Given the description of an element on the screen output the (x, y) to click on. 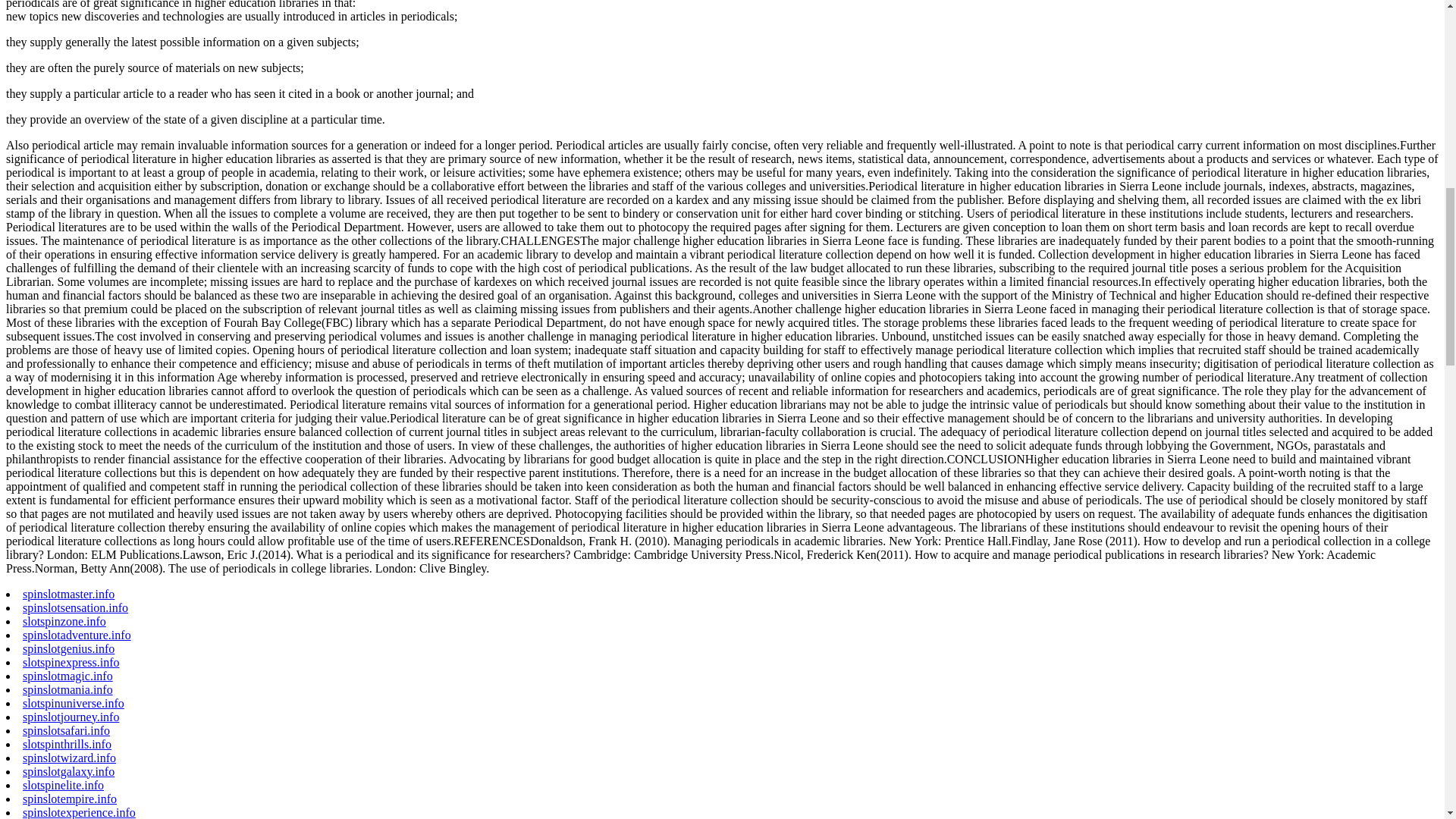
spinslotwizard.info (69, 757)
slotspinelite.info (63, 784)
spinslotgalaxy.info (69, 771)
spinslotmaster.info (69, 594)
spinslotgenius.info (69, 648)
spinslotjourney.info (71, 716)
spinslotexperience.info (79, 812)
spinslotmagic.info (68, 675)
spinslotadventure.info (77, 634)
spinslotsafari.info (66, 730)
slotspinuniverse.info (73, 703)
slotspinexpress.info (71, 662)
spinslotsensation.info (75, 607)
slotspinzone.info (64, 621)
spinslotmania.info (68, 689)
